Given the description of an element on the screen output the (x, y) to click on. 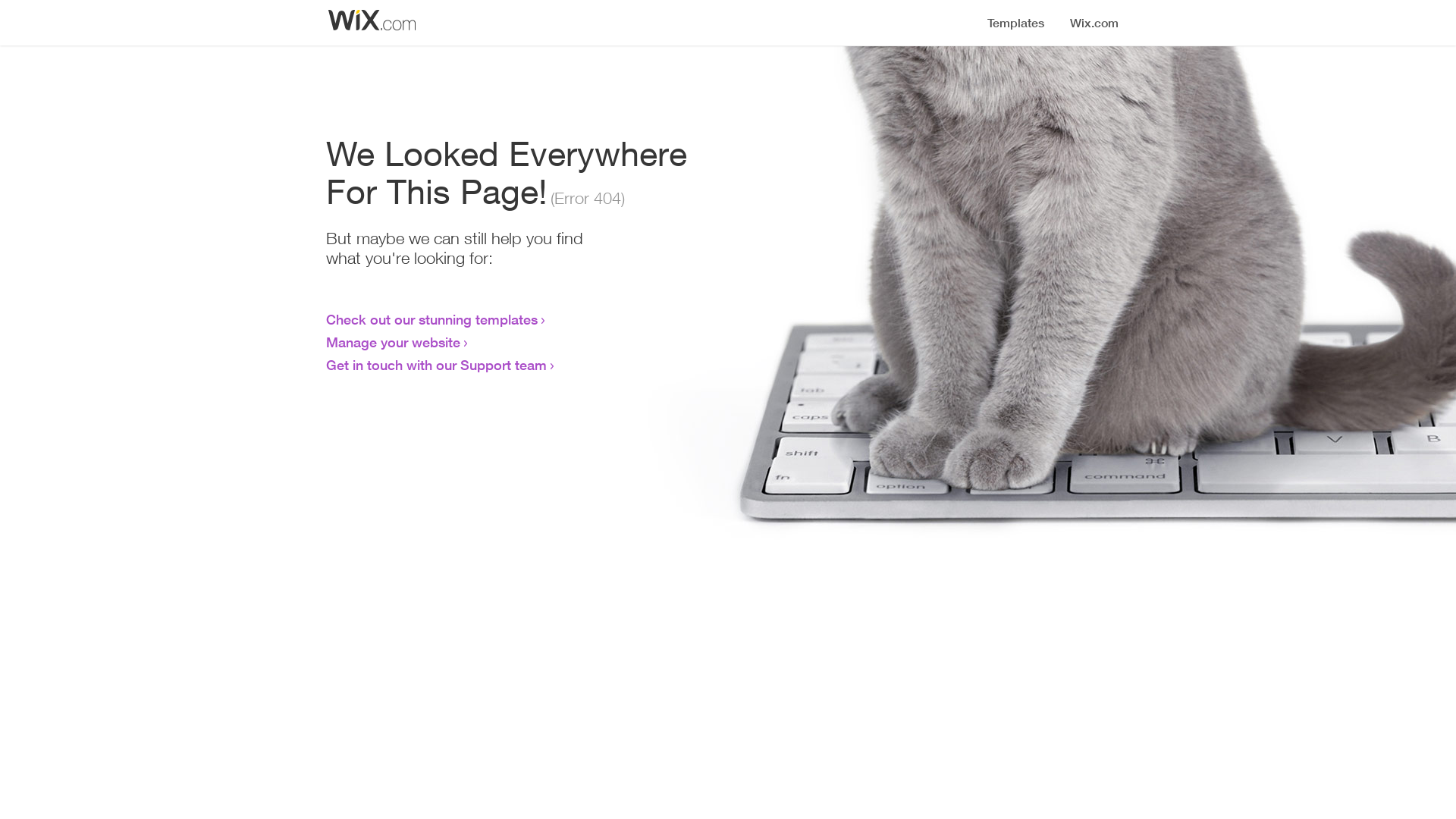
Check out our stunning templates Element type: text (431, 318)
Get in touch with our Support team Element type: text (436, 364)
Manage your website Element type: text (393, 341)
